Given the description of an element on the screen output the (x, y) to click on. 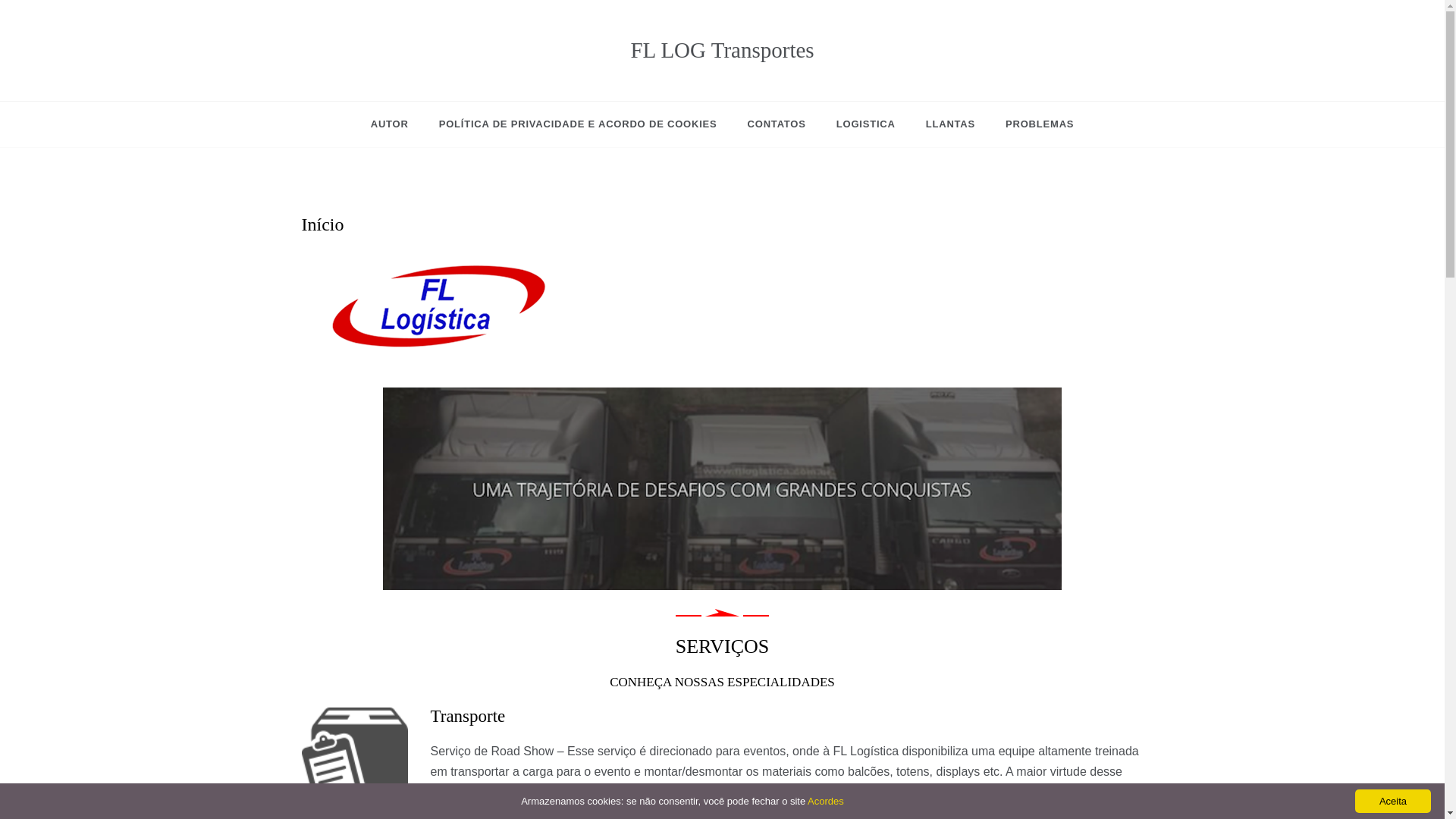
FL LOG Transportes (721, 49)
LOGISTICA (866, 124)
Acordes (826, 800)
AUTOR (397, 124)
LLANTAS (950, 124)
CONTATOS (776, 124)
PROBLEMAS (1032, 124)
